Given the description of an element on the screen output the (x, y) to click on. 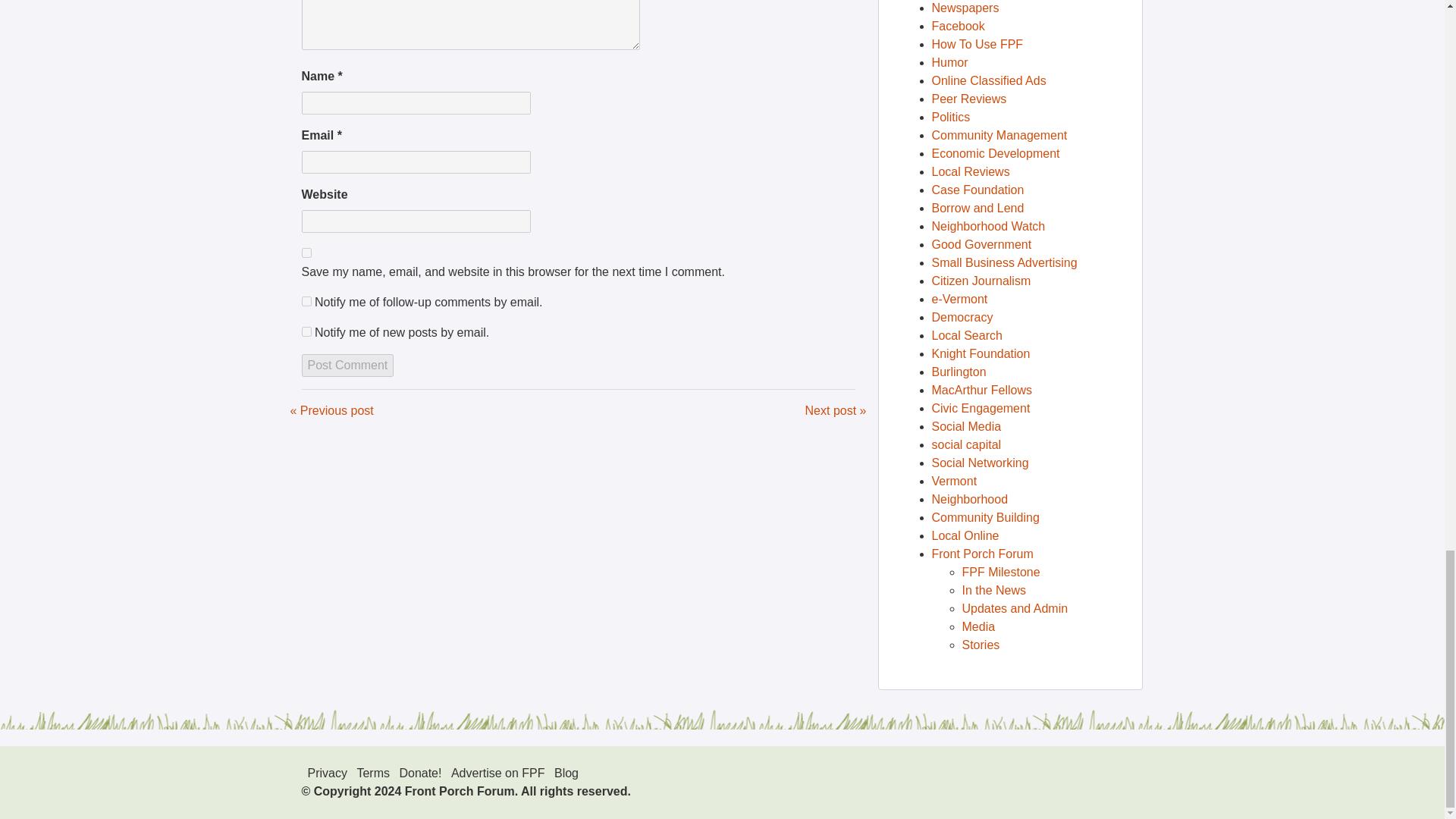
subscribe (306, 301)
subscribe (306, 331)
yes (306, 252)
Post Comment (347, 364)
